Given the description of an element on the screen output the (x, y) to click on. 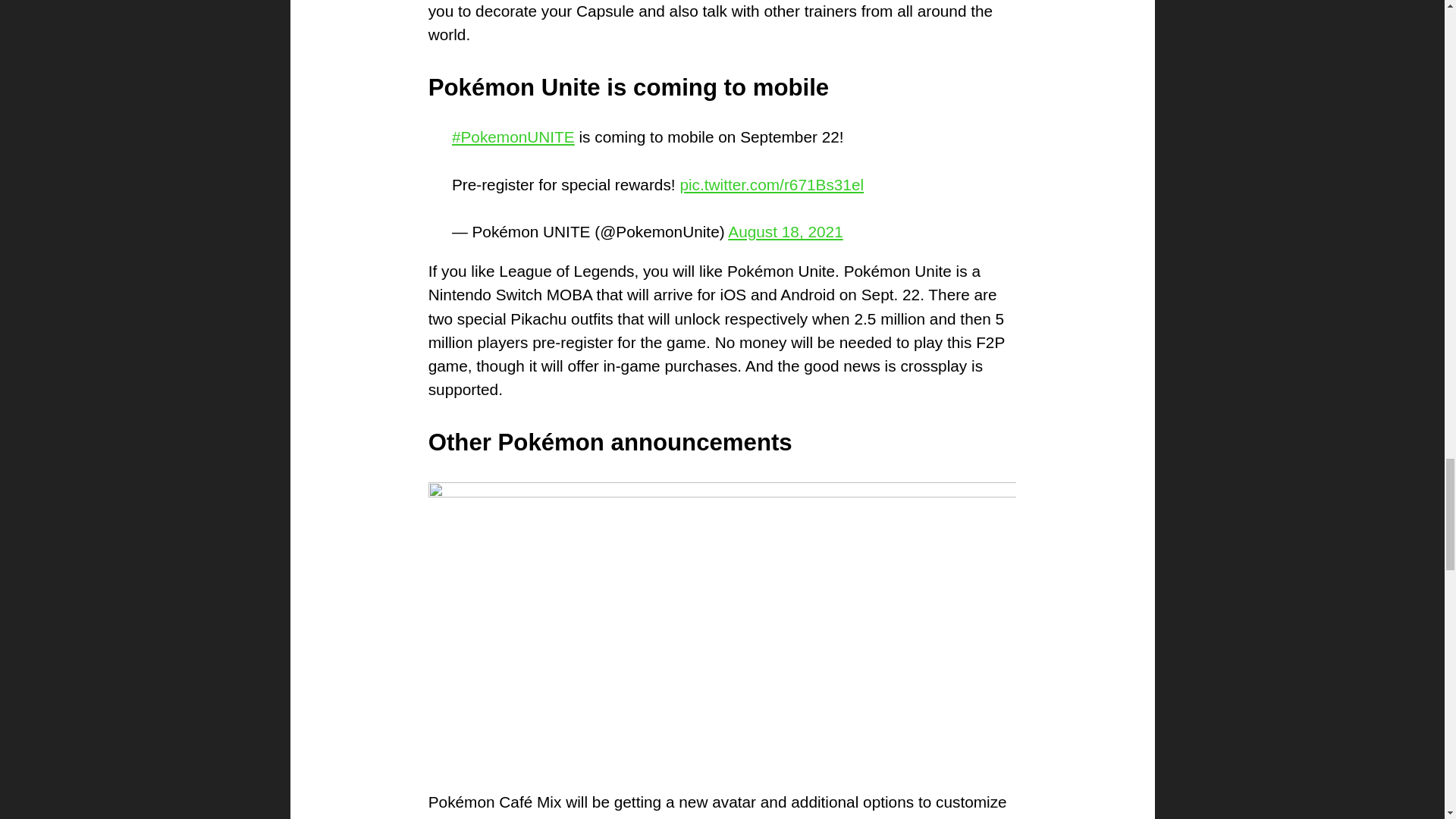
August 18, 2021 (785, 231)
